Given the description of an element on the screen output the (x, y) to click on. 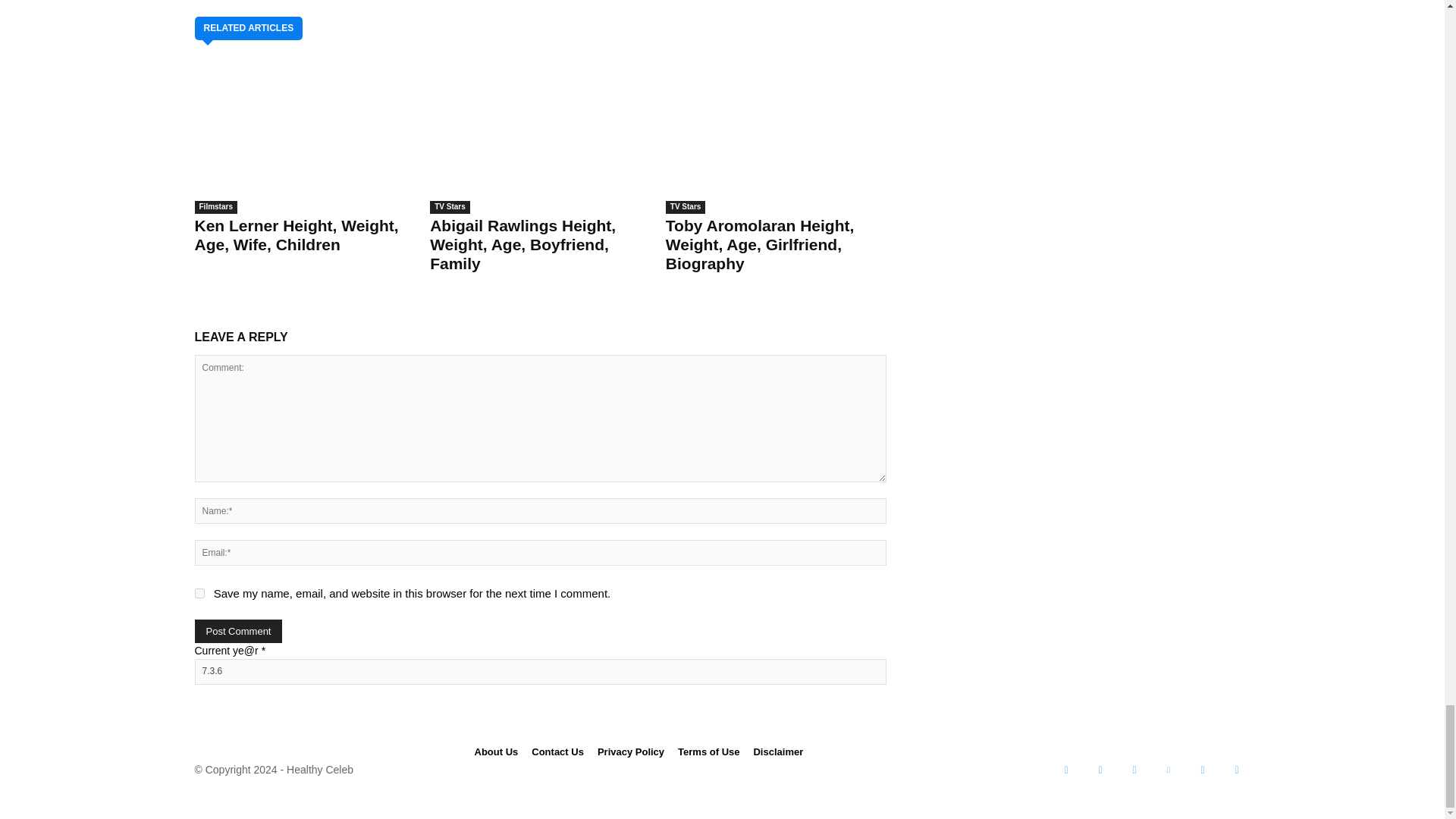
7.3.6 (539, 671)
yes (198, 593)
Post Comment (237, 630)
